Given the description of an element on the screen output the (x, y) to click on. 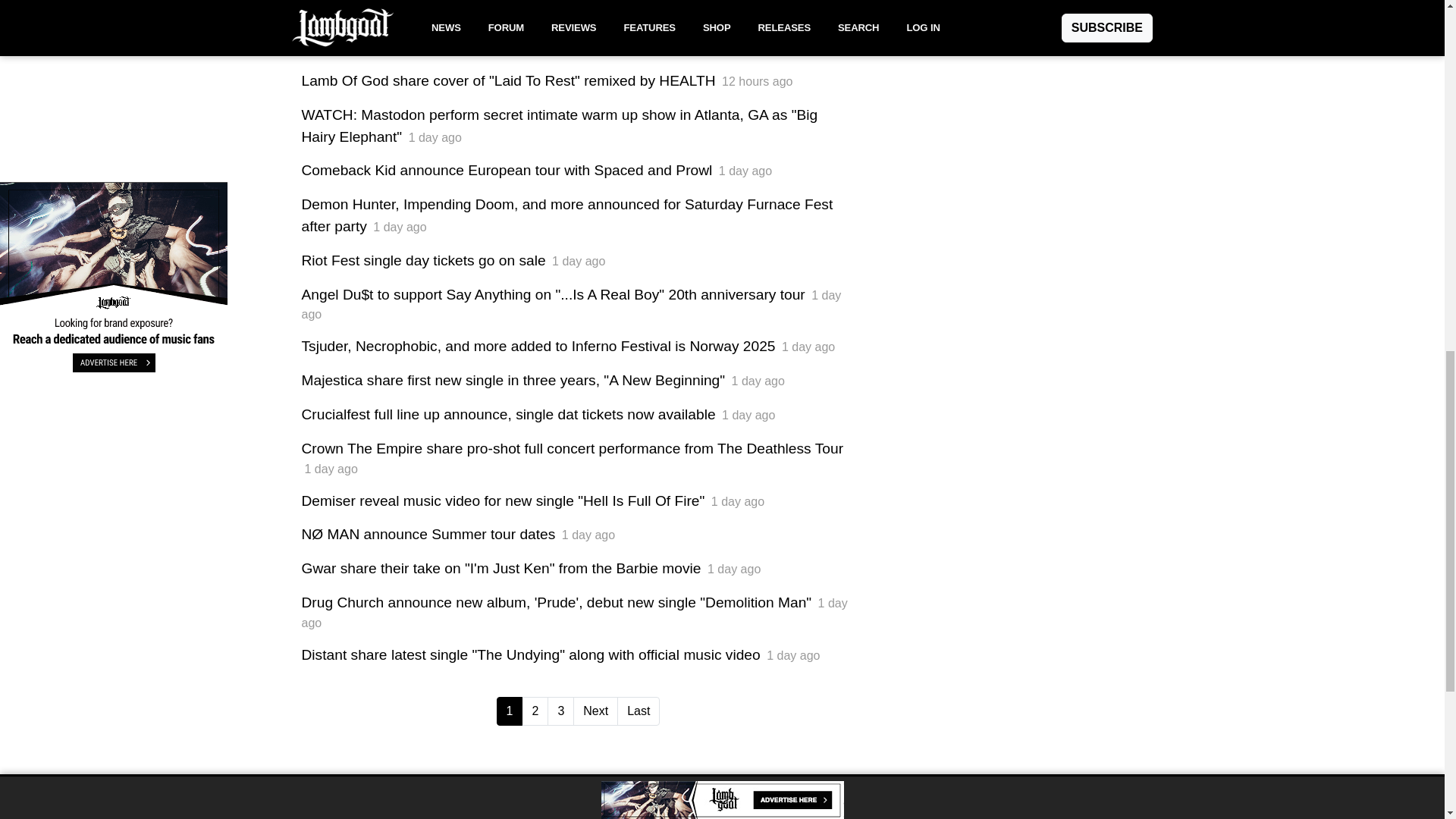
Lamb Of God share cover of "Laid To Rest" remixed by HEALTH (508, 80)
Riot Fest single day tickets go on sale (423, 260)
Comeback Kid announce European tour with Spaced and Prowl (507, 170)
